Given the description of an element on the screen output the (x, y) to click on. 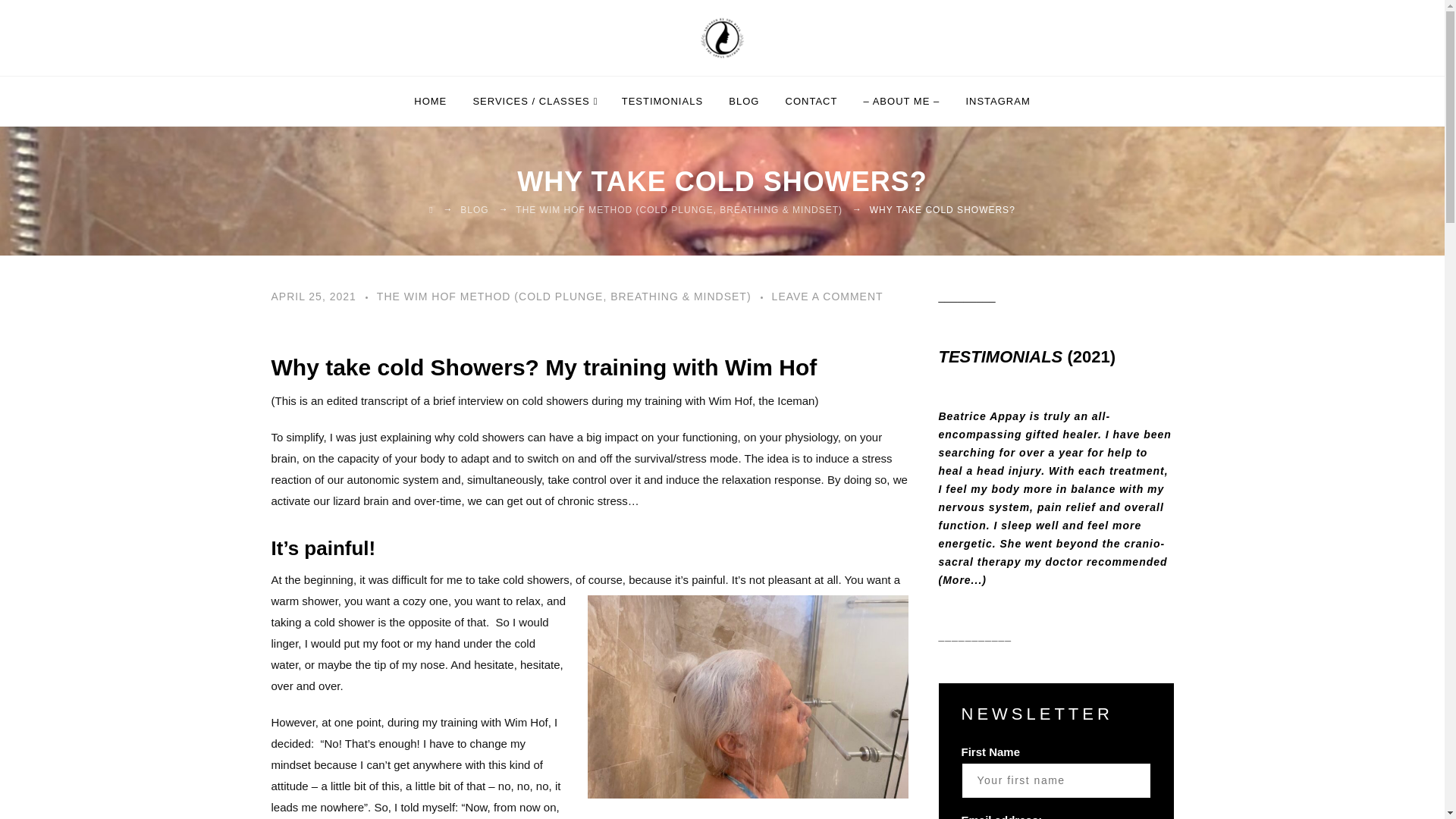
INSTAGRAM (997, 101)
Go to Blog. (473, 209)
TESTIMONIALS (662, 101)
CONTACT (812, 101)
APRIL 25, 2021 (313, 296)
TESTIMONIALS (1000, 356)
BLOG (473, 209)
LEAVE A COMMENT (827, 296)
